Given the description of an element on the screen output the (x, y) to click on. 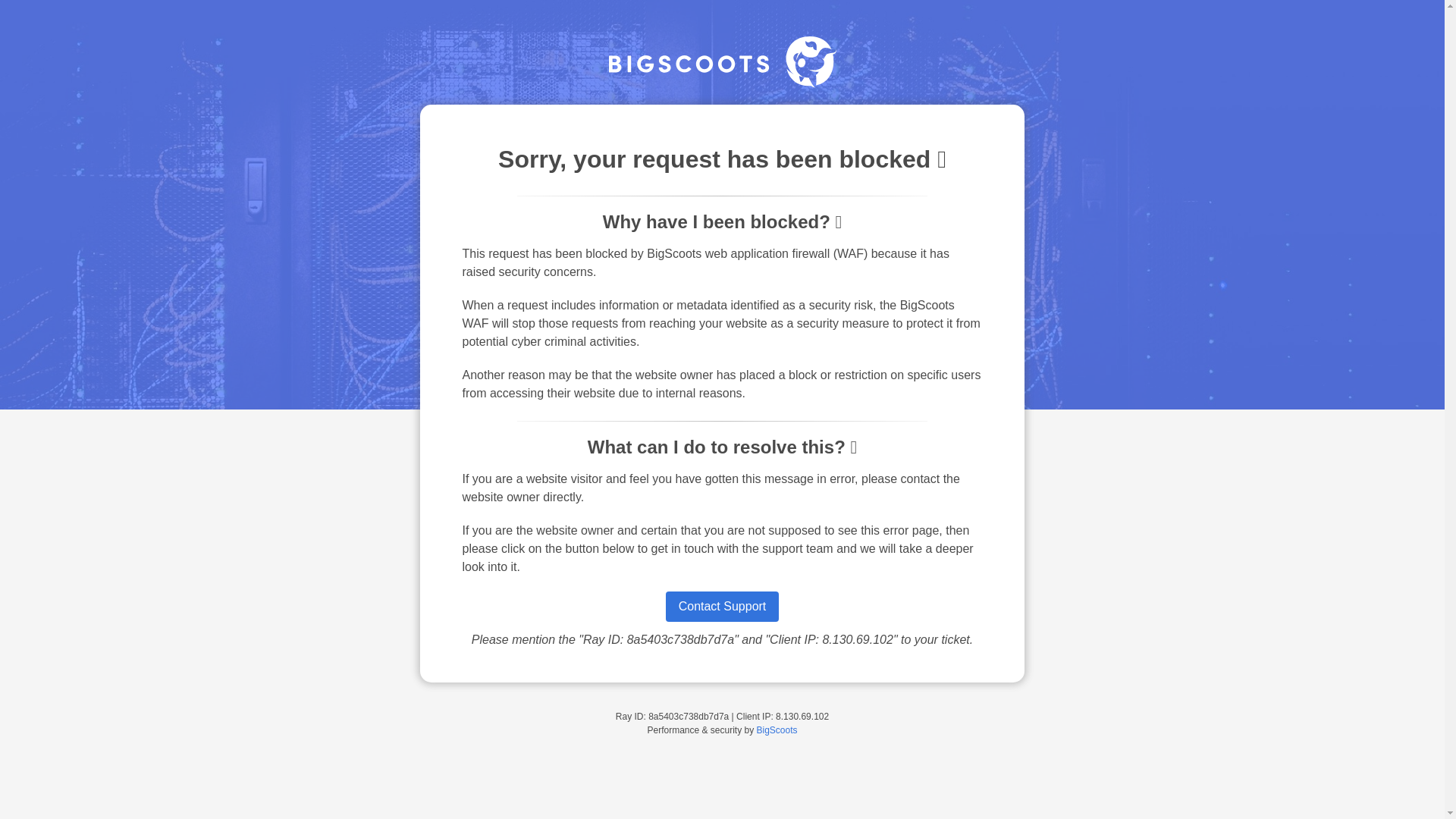
Contact Support (721, 606)
BigScoots (777, 729)
